Given the description of an element on the screen output the (x, y) to click on. 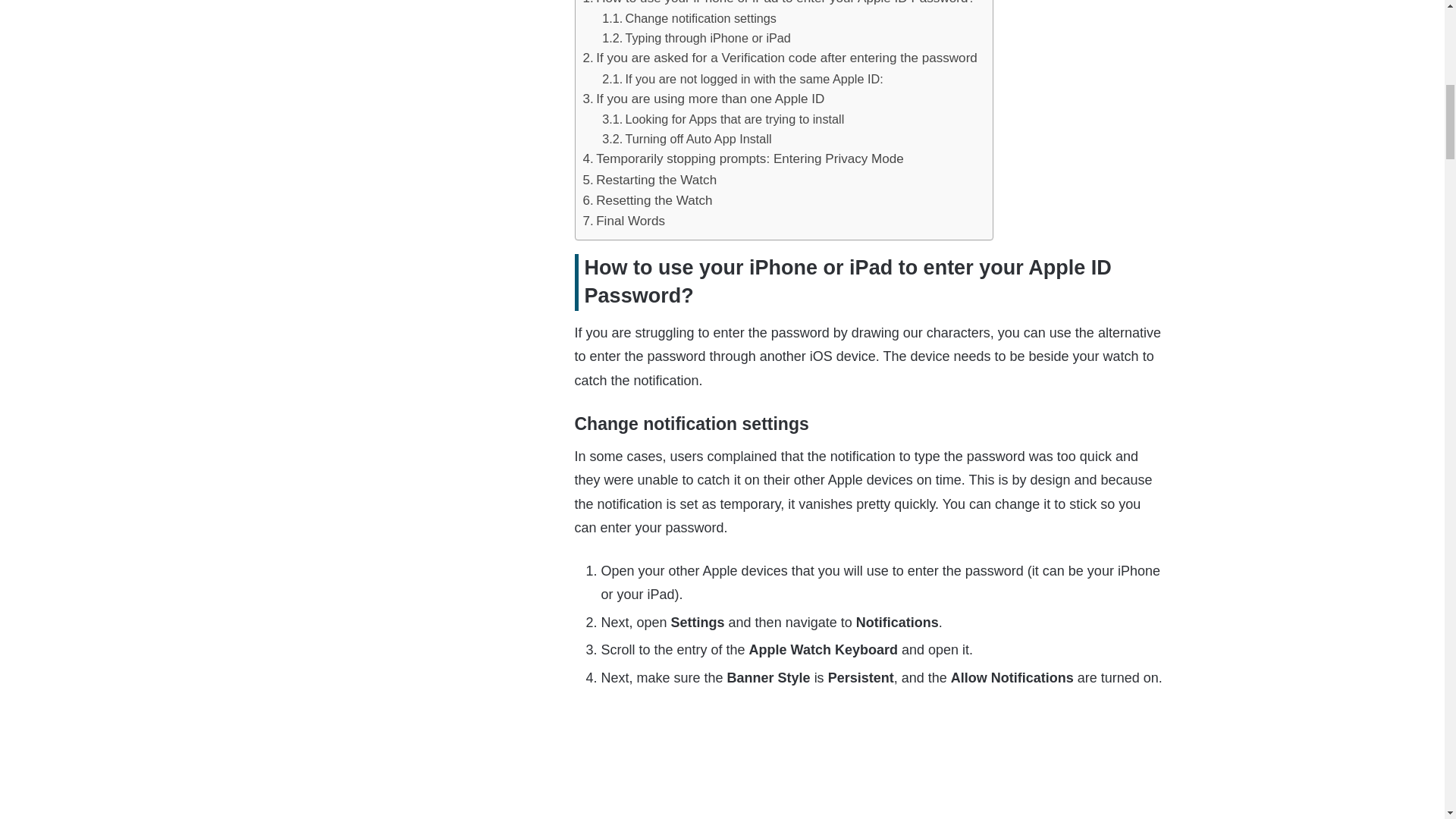
Resetting the Watch (646, 200)
Change notification settings (689, 17)
Temporarily stopping prompts: Entering Privacy Mode (742, 158)
If you are not logged in with the same Apple ID: (742, 78)
Restarting the Watch (649, 179)
Looking for Apps that are trying to install (723, 118)
If you are using more than one Apple ID (703, 98)
